Given the description of an element on the screen output the (x, y) to click on. 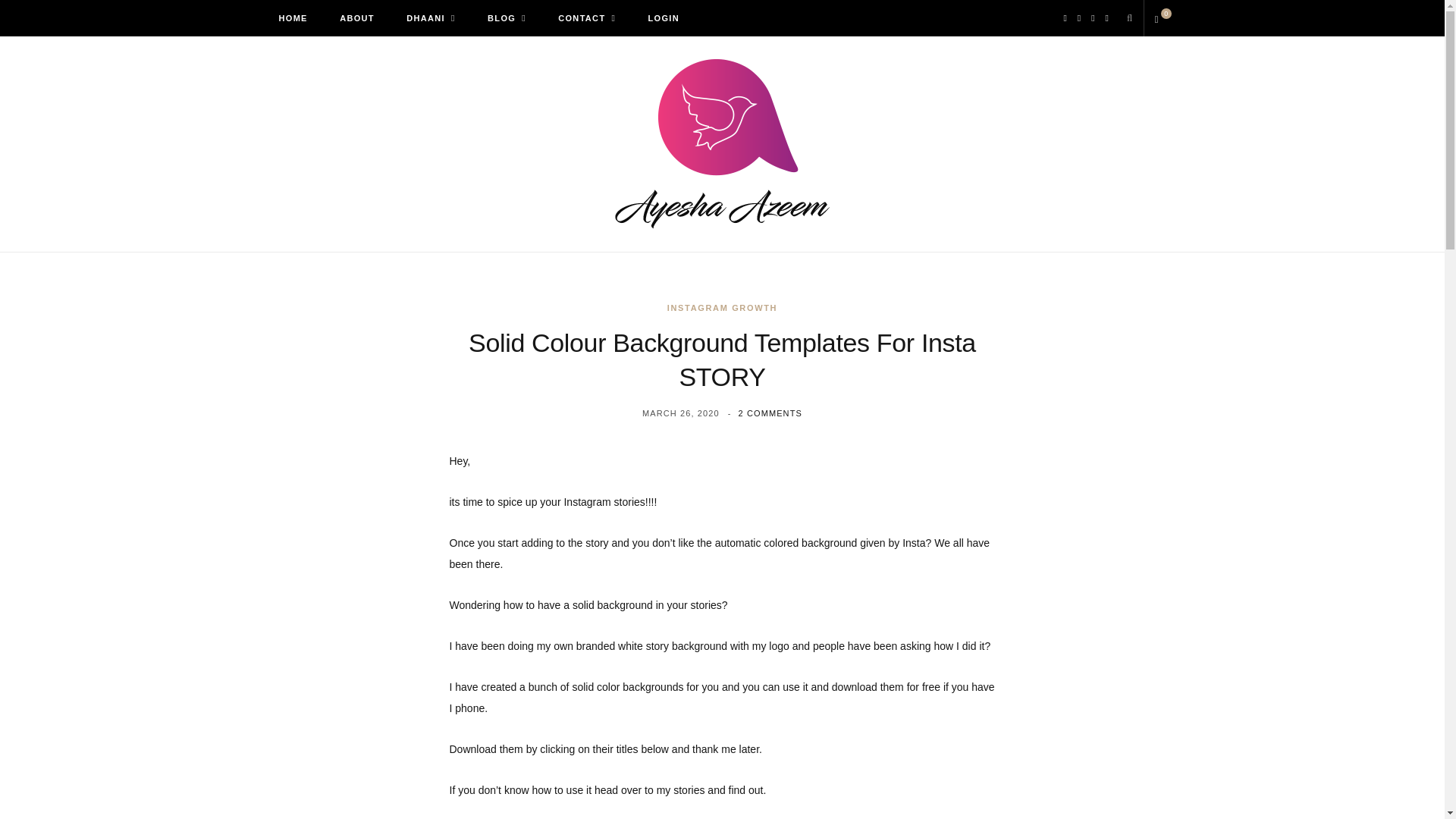
CONTACT (586, 18)
Ayesha Azeem (721, 143)
ABOUT (356, 18)
DHAANI (429, 18)
LOGIN (663, 18)
BLOG (506, 18)
HOME (292, 18)
